Given the description of an element on the screen output the (x, y) to click on. 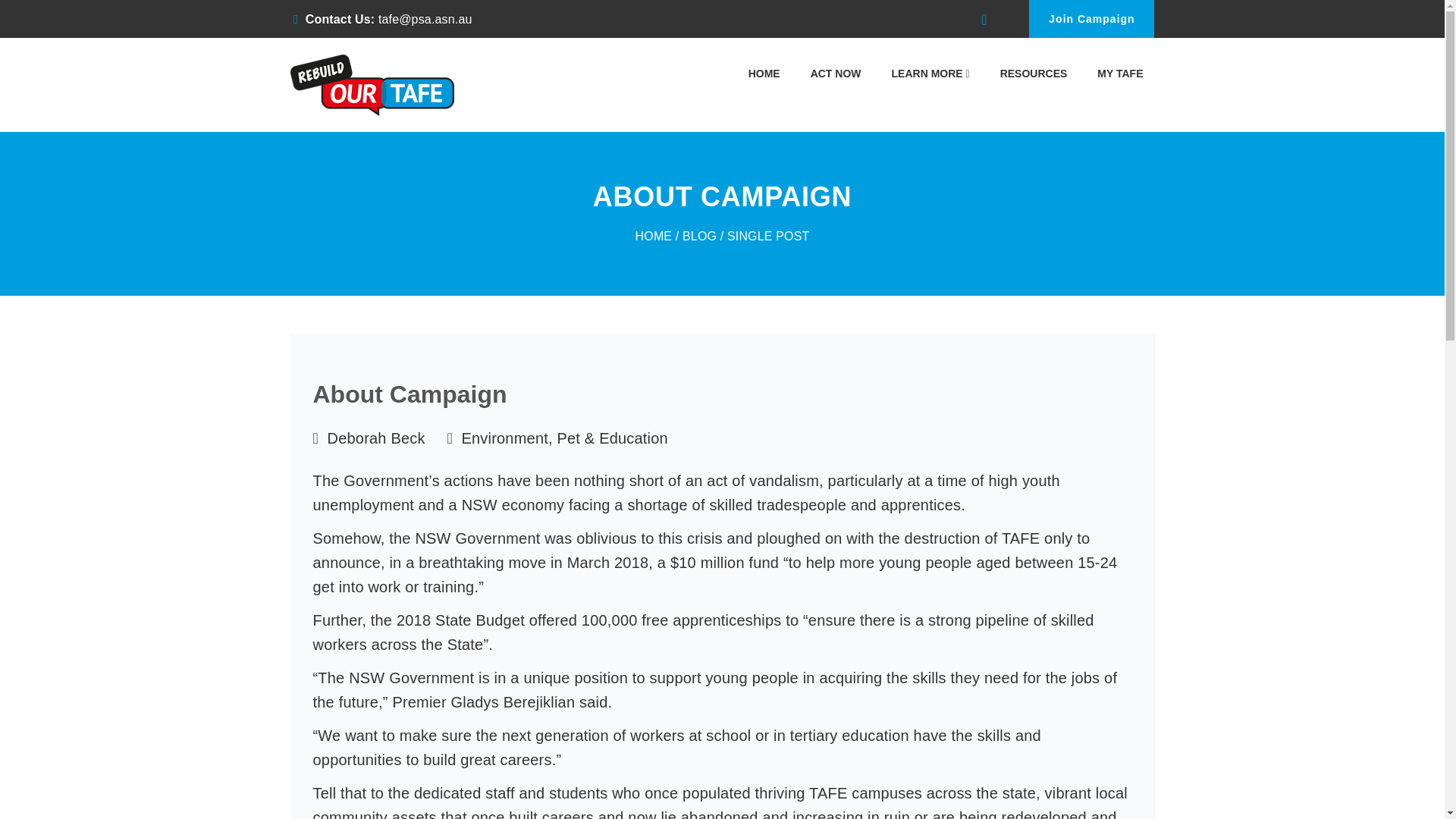
BLOG (699, 236)
MY TAFE (1120, 76)
RESOURCES (1033, 76)
Join Campaign (1091, 18)
LEARN MORE (930, 76)
HOME (653, 236)
HOME (764, 76)
ACT NOW (835, 76)
